Given the description of an element on the screen output the (x, y) to click on. 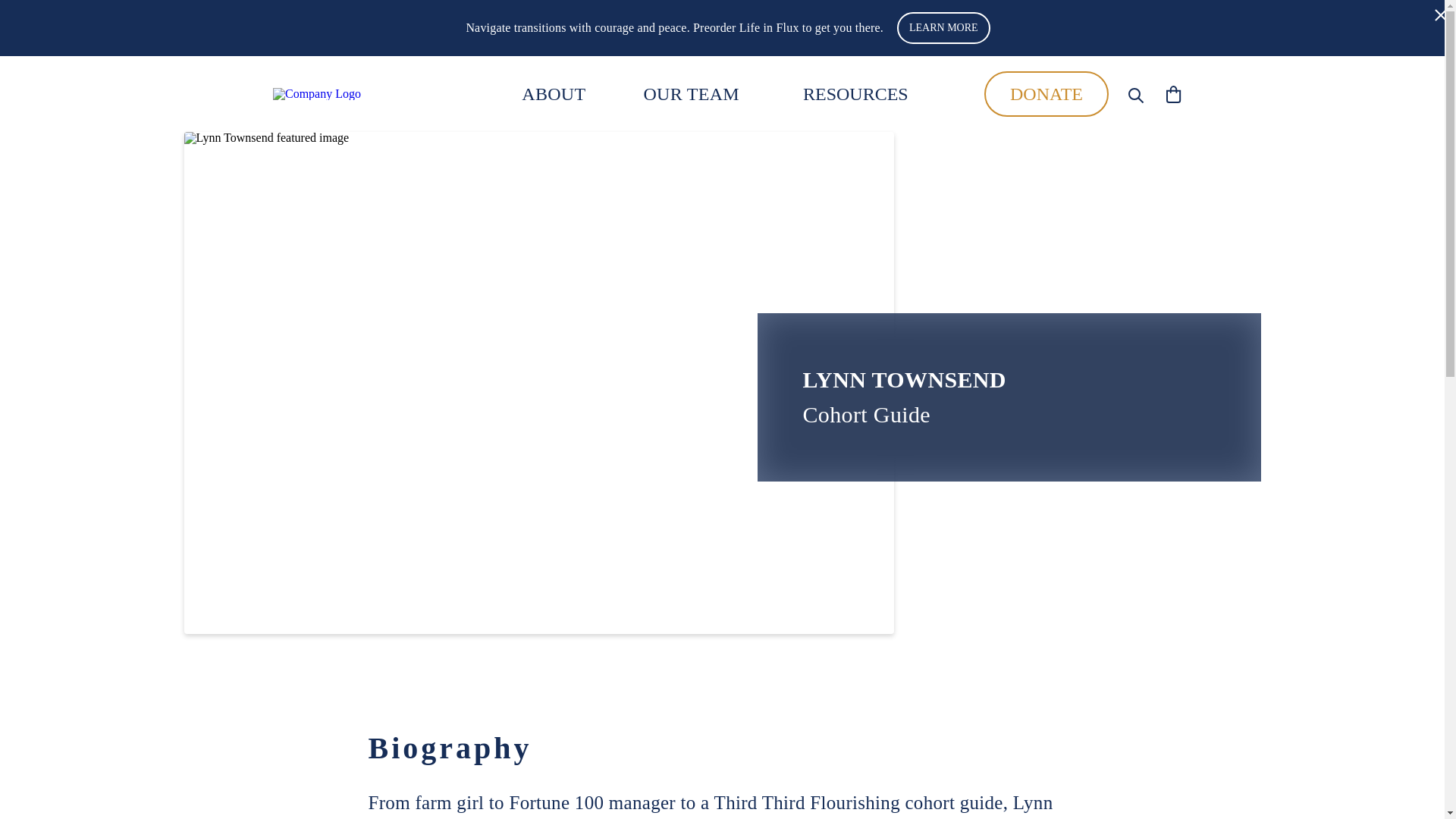
RESOURCES (855, 93)
Return to Homepage (356, 93)
ABOUT (552, 94)
LEARN MORE (943, 28)
De Pree Center (356, 93)
OUR TEAM (691, 94)
DONATE (1046, 94)
